Given the description of an element on the screen output the (x, y) to click on. 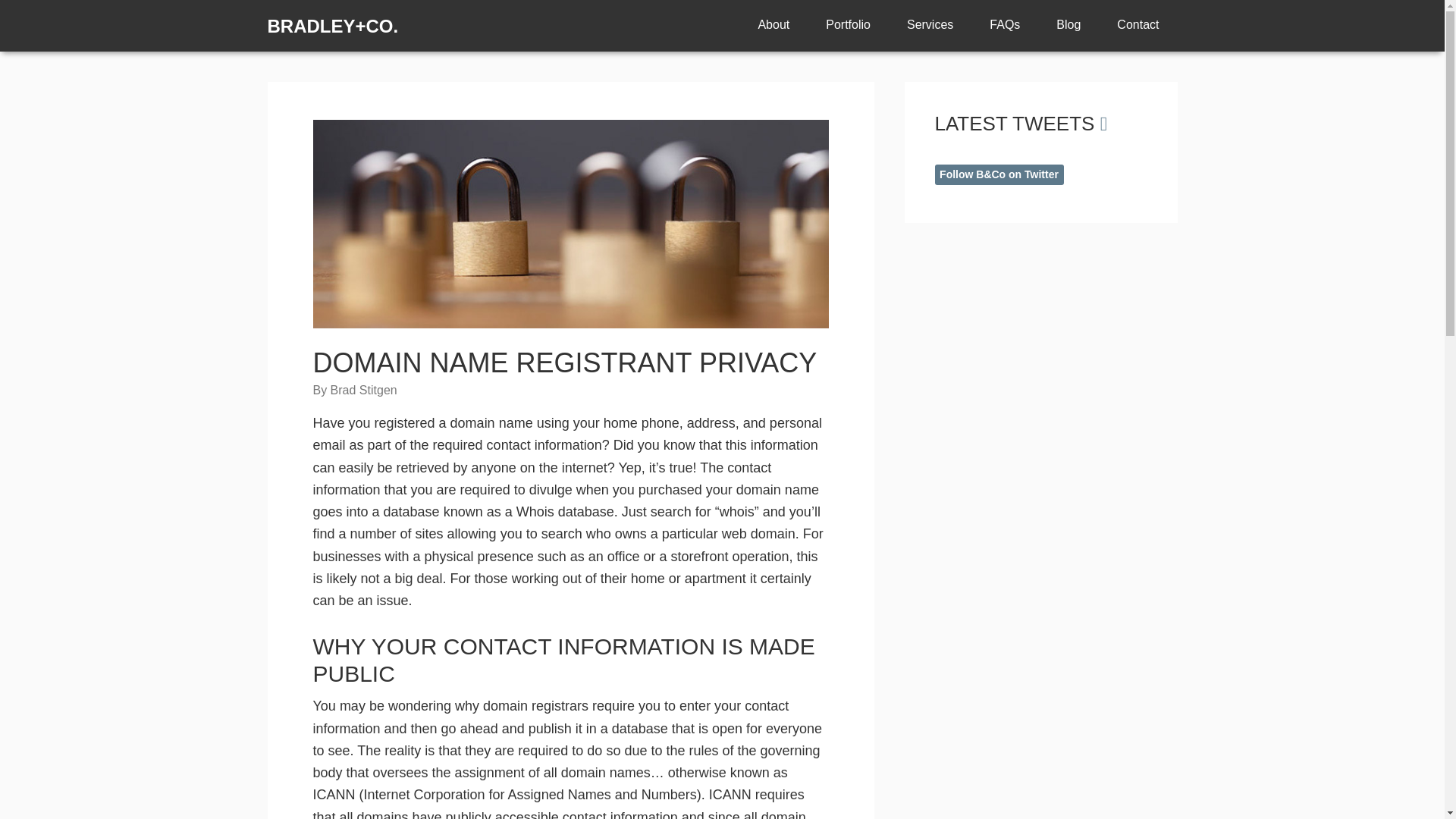
Portfolio (848, 24)
Services (929, 24)
FAQs (1004, 24)
Contact (1137, 24)
Blog (1068, 24)
About (773, 24)
ICANN (334, 794)
